Given the description of an element on the screen output the (x, y) to click on. 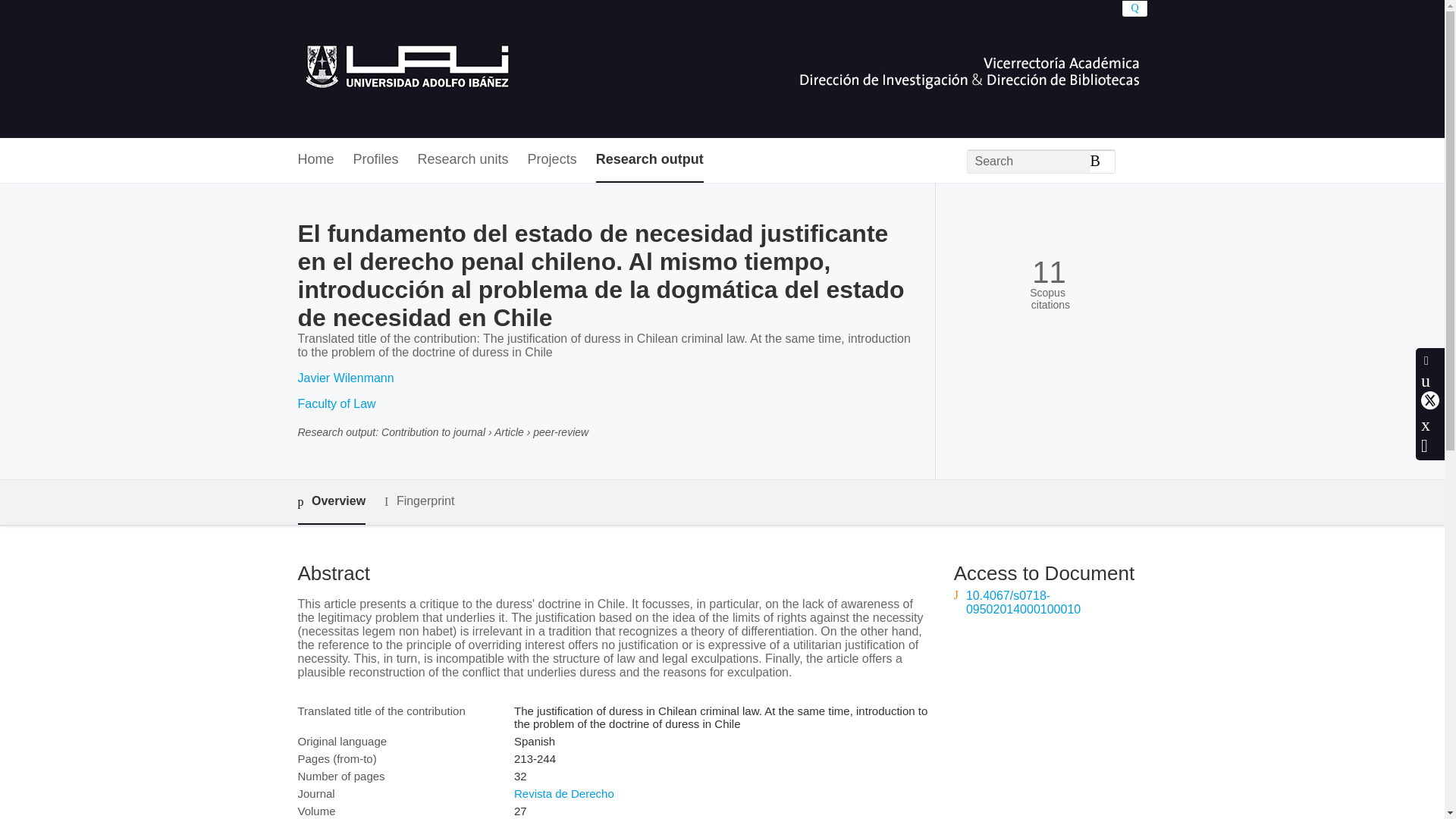
Projects (551, 160)
Faculty of Law (336, 403)
Research units (462, 160)
Home (315, 160)
Javier Wilenmann (345, 377)
Research output (649, 160)
Fingerprint (419, 501)
Overview (331, 501)
Profiles (375, 160)
Revista de Derecho (563, 793)
